Given the description of an element on the screen output the (x, y) to click on. 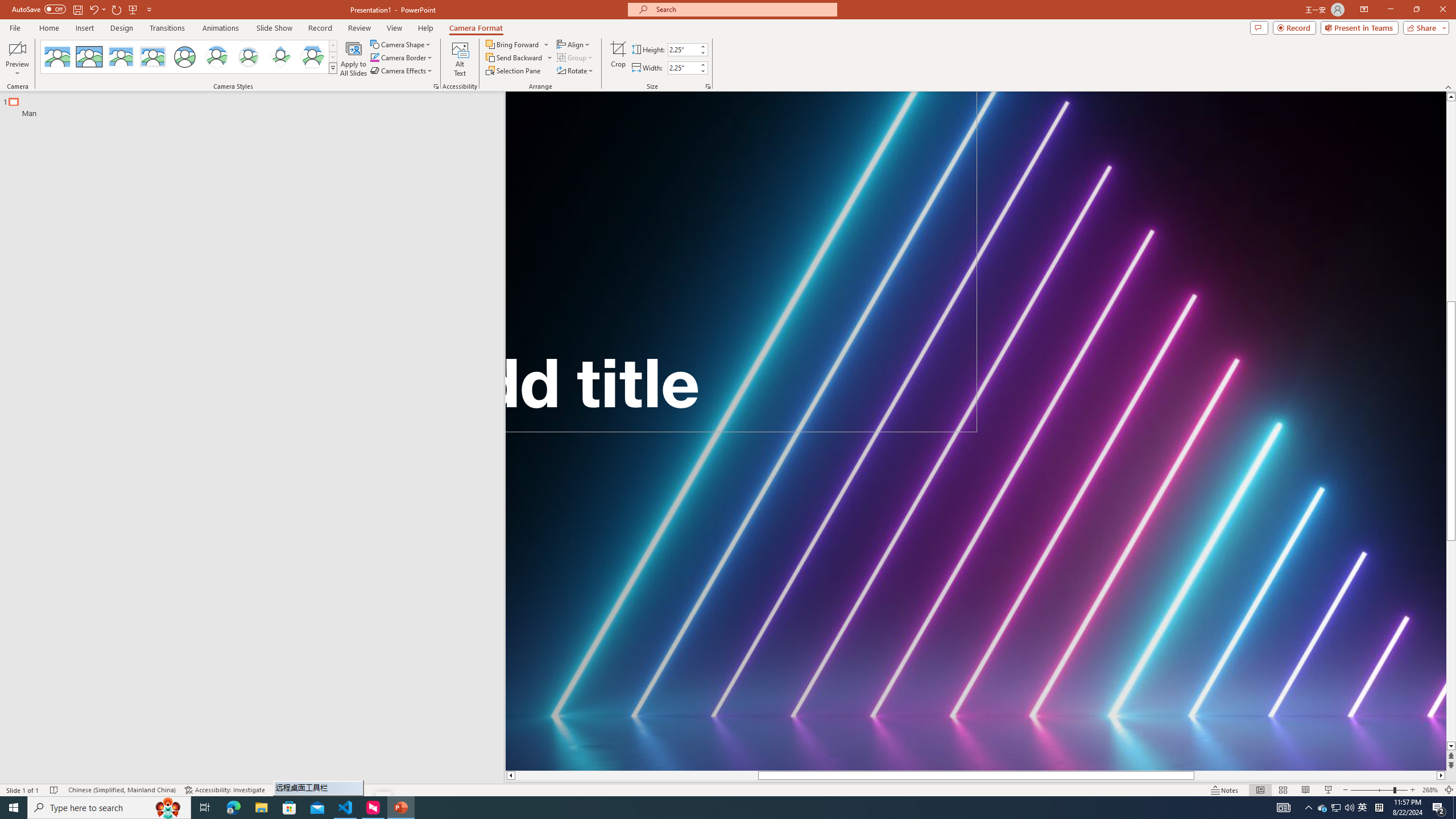
Send Backward (518, 56)
Apply to All Slides (353, 58)
Center Shadow Rectangle (120, 56)
Enable Camera Preview (17, 48)
Rotate (575, 69)
Center Shadow Circle (216, 56)
